Given the description of an element on the screen output the (x, y) to click on. 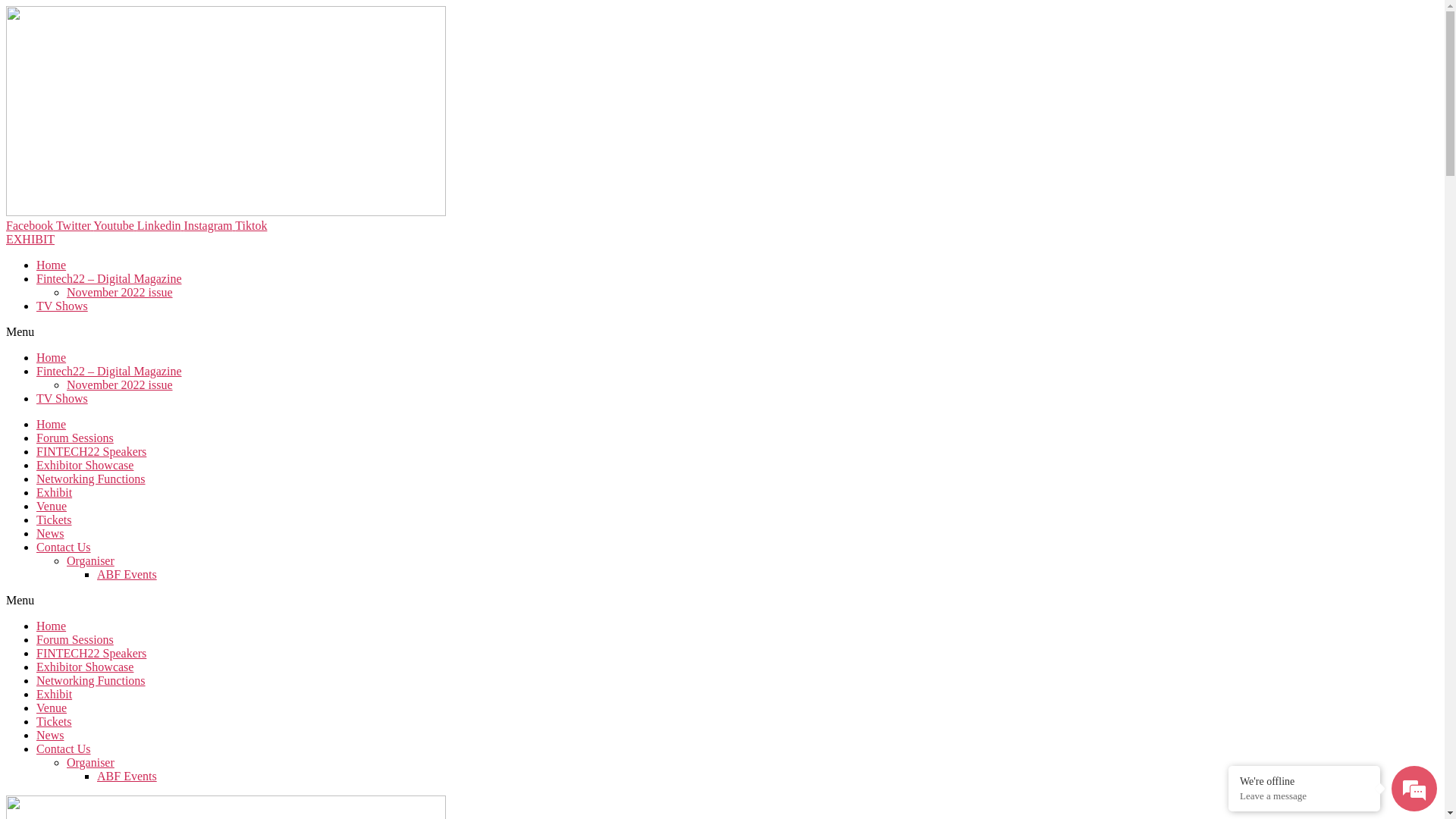
November 2022 issue Element type: text (119, 291)
Home Element type: text (50, 625)
Instagram Element type: text (209, 225)
Networking Functions Element type: text (90, 680)
Tickets Element type: text (54, 519)
FINTECH22 Speakers Element type: text (91, 652)
November 2022 issue Element type: text (119, 384)
Venue Element type: text (51, 707)
Youtube Element type: text (115, 225)
Facebook Element type: text (31, 225)
Organiser Element type: text (90, 762)
EXHIBIT Element type: text (30, 238)
Contact Us Element type: text (63, 748)
Twitter Element type: text (74, 225)
Tiktok Element type: text (250, 225)
Venue Element type: text (51, 505)
News Element type: text (49, 734)
TV Shows Element type: text (61, 398)
Exhibit Element type: text (54, 492)
ABF Events Element type: text (126, 775)
Forum Sessions Element type: text (74, 437)
Networking Functions Element type: text (90, 478)
Forum Sessions Element type: text (74, 639)
FINTECH22 Speakers Element type: text (91, 451)
Exhibitor Showcase Element type: text (84, 464)
Home Element type: text (50, 357)
ABF Events Element type: text (126, 573)
TV Shows Element type: text (61, 305)
Contact Us Element type: text (63, 546)
News Element type: text (49, 533)
Tickets Element type: text (54, 721)
Exhibitor Showcase Element type: text (84, 666)
Organiser Element type: text (90, 560)
Linkedin Element type: text (160, 225)
Home Element type: text (50, 264)
Exhibit Element type: text (54, 693)
Home Element type: text (50, 423)
